Given the description of an element on the screen output the (x, y) to click on. 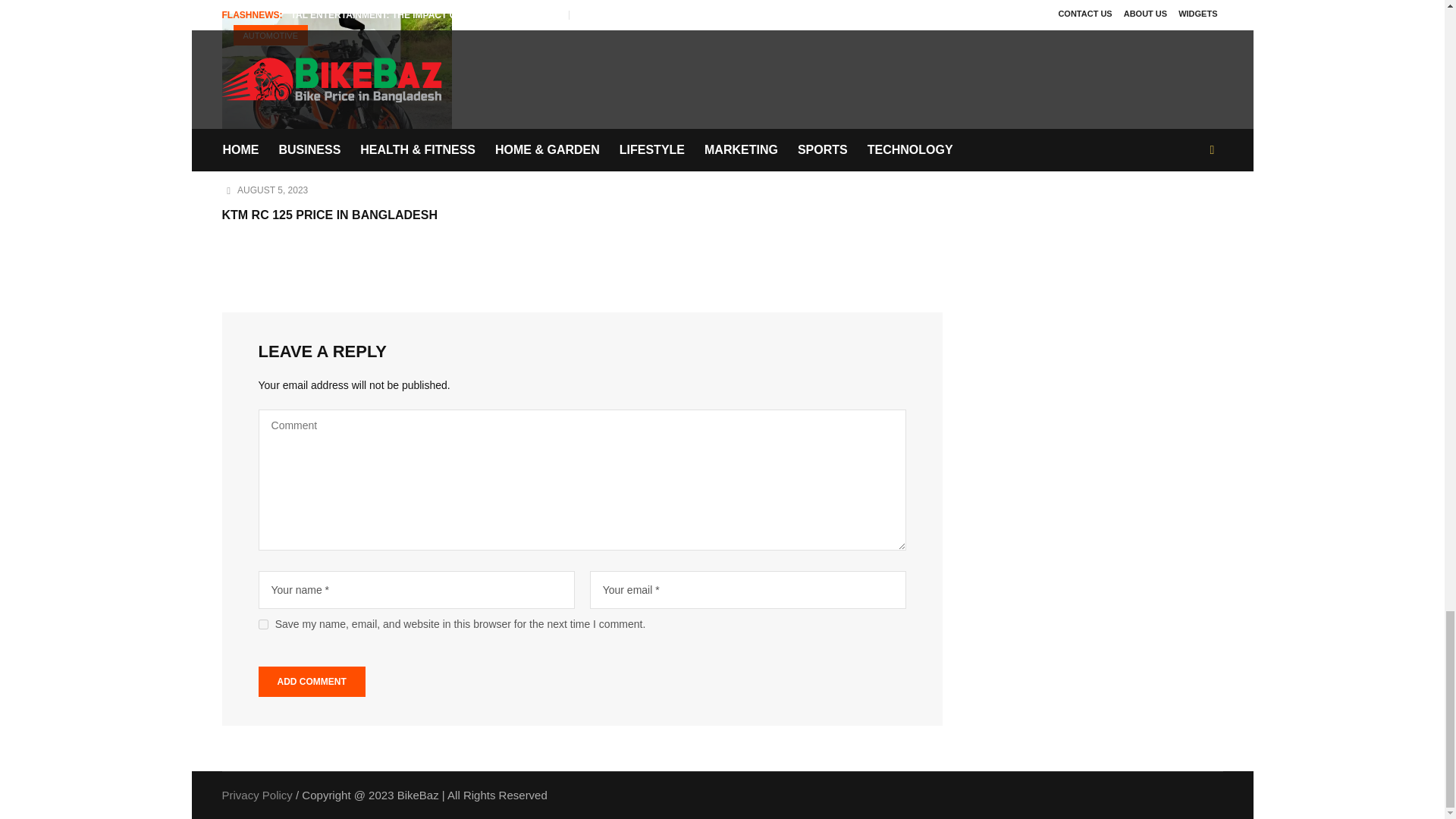
Add Comment (312, 681)
yes (263, 624)
